Given the description of an element on the screen output the (x, y) to click on. 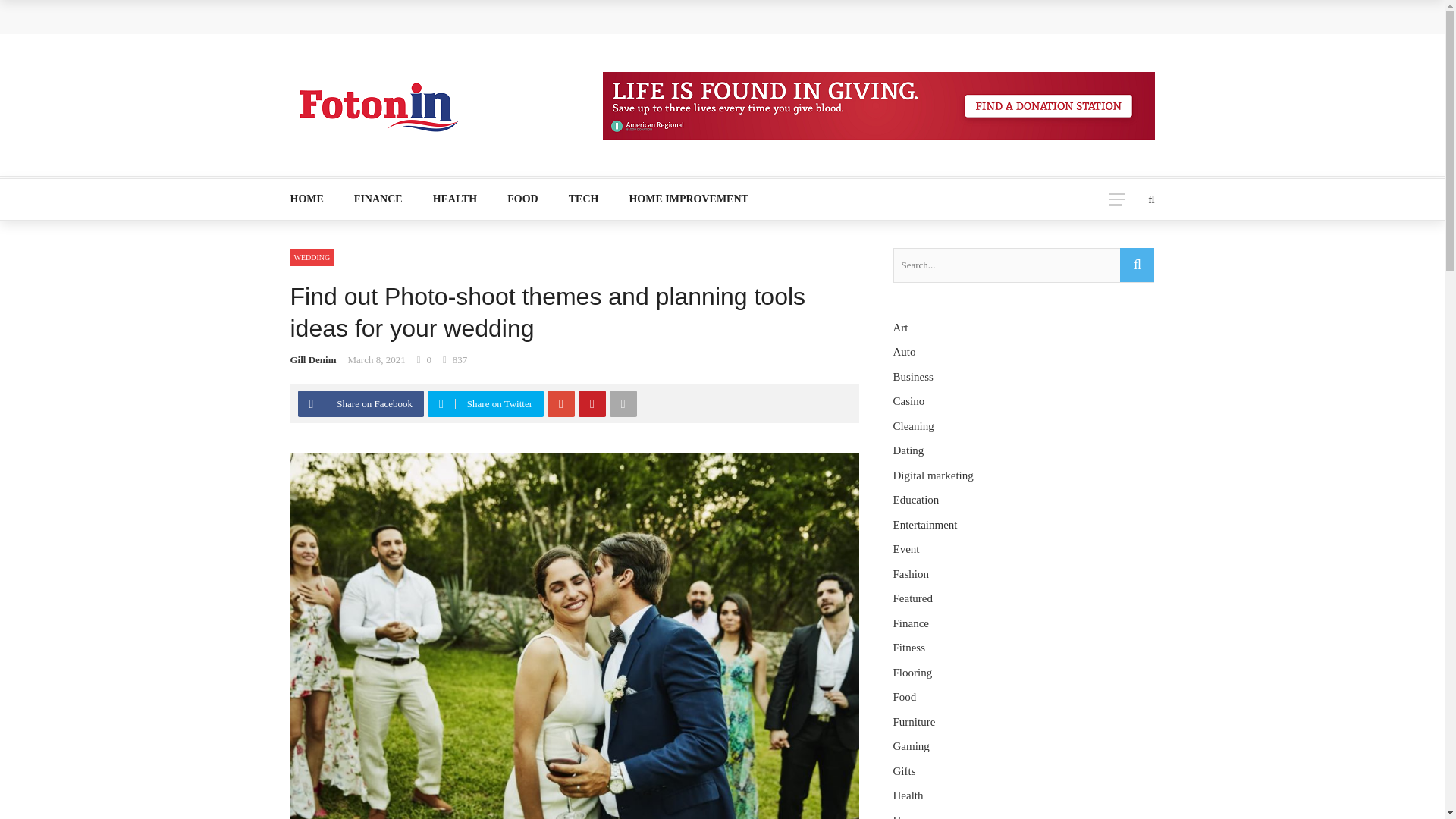
FOOD (522, 199)
FINANCE (378, 199)
TECH (583, 199)
HEALTH (455, 199)
HOME IMPROVEMENT (680, 199)
HOME (313, 199)
